Given the description of an element on the screen output the (x, y) to click on. 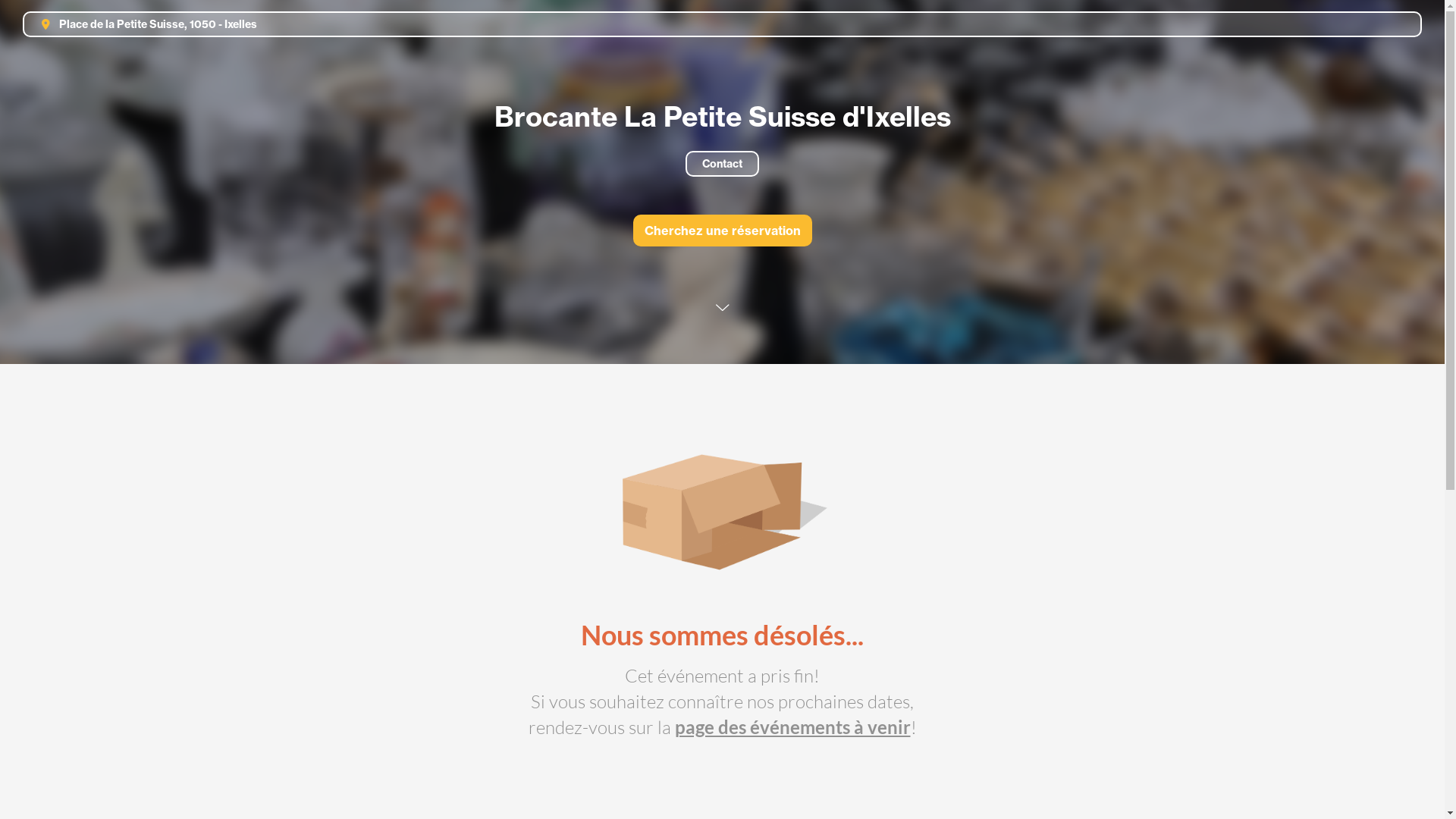
Place de la Petite Suisse, 1050 - Ixelles Element type: text (142, 24)
Contact Element type: text (722, 163)
